Given the description of an element on the screen output the (x, y) to click on. 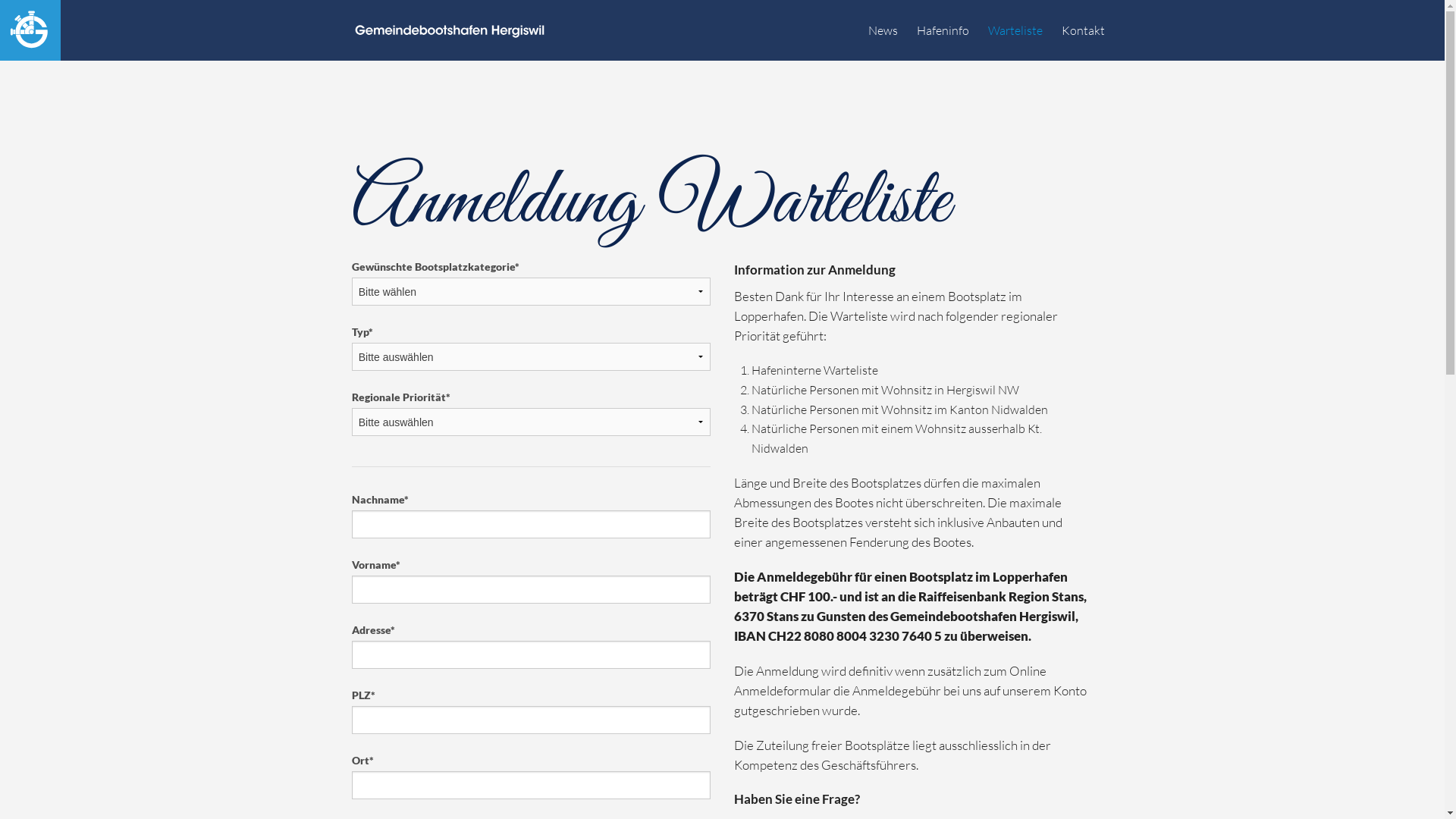
Hafeninfo Element type: text (942, 29)
News Element type: text (882, 29)
Warteliste Element type: text (1015, 29)
Kontakt Element type: text (1082, 29)
